Given the description of an element on the screen output the (x, y) to click on. 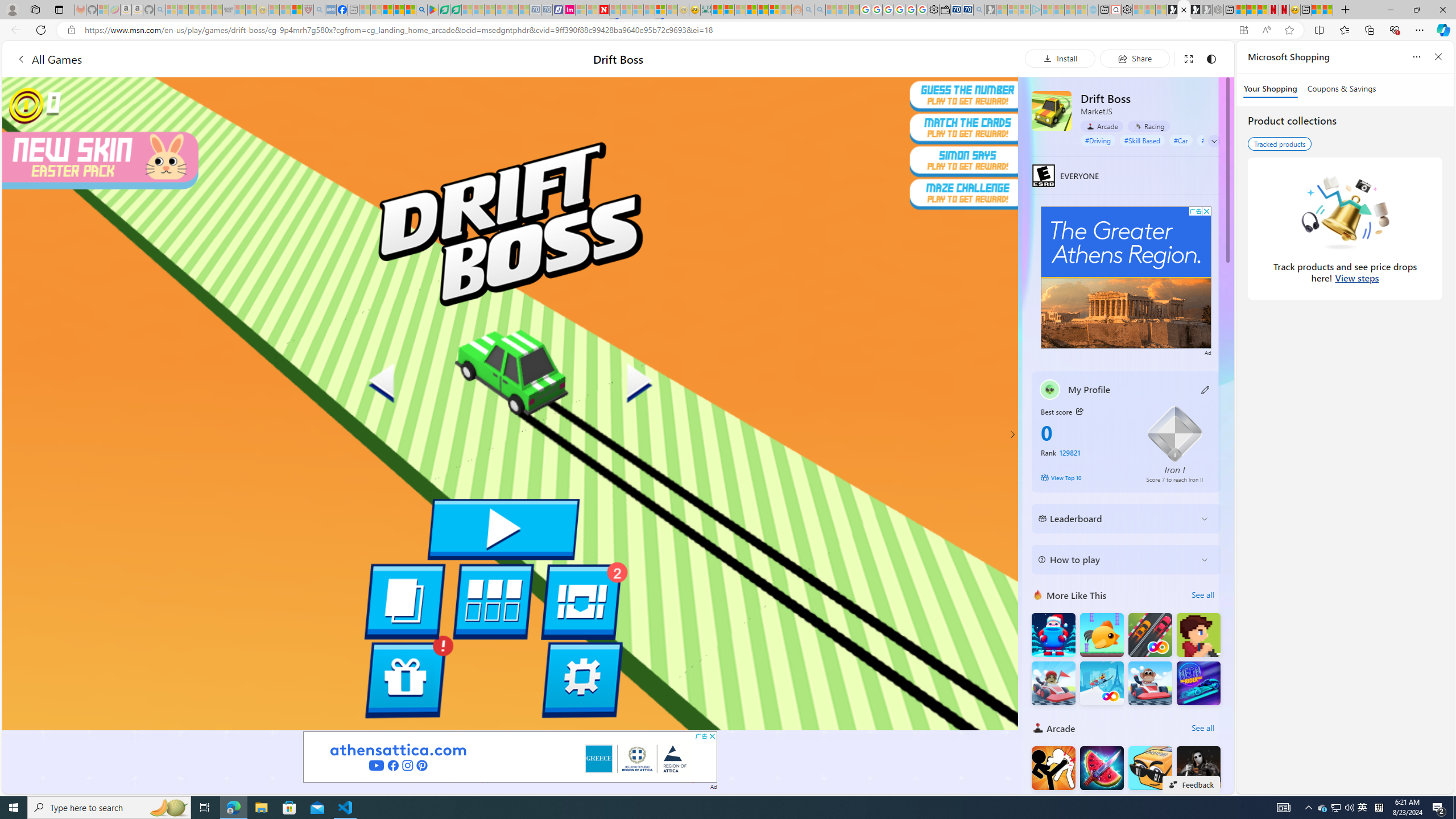
Recipes - MSN - Sleeping (273, 9)
Full screen (1187, 58)
Utah sues federal government - Search - Sleeping (819, 9)
New tab - Sleeping (353, 9)
EVERYONE (1043, 175)
google - Search (421, 9)
Racing (1148, 125)
Microsoft Start (387, 9)
Collections (1369, 29)
